Given the description of an element on the screen output the (x, y) to click on. 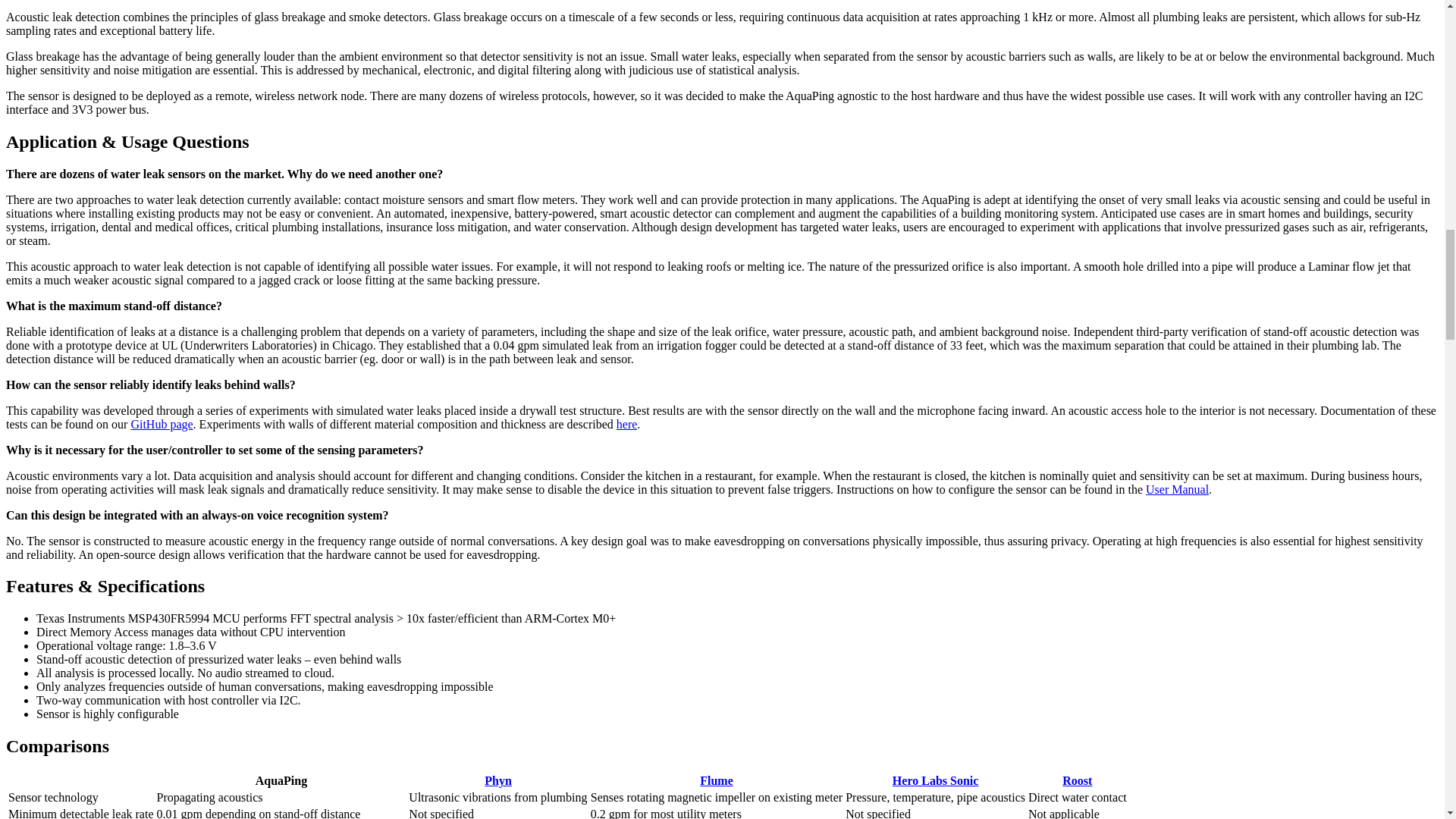
User Manual (1176, 489)
here (626, 423)
Roost (1077, 780)
Phyn (498, 780)
Flume (716, 780)
Hero Labs Sonic (935, 780)
GitHub page (161, 423)
